Given the description of an element on the screen output the (x, y) to click on. 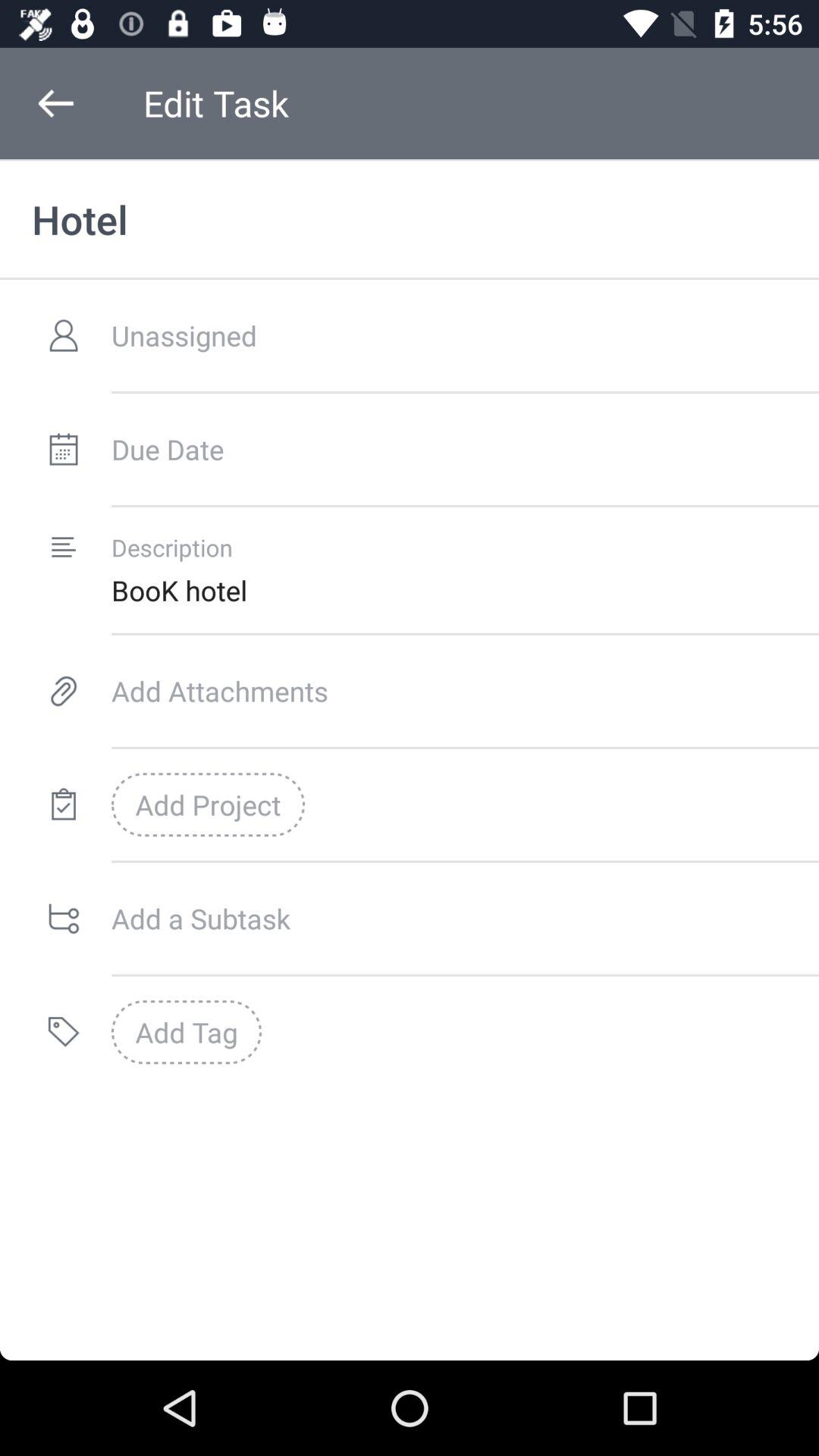
tap the item above the add tag icon (465, 918)
